Given the description of an element on the screen output the (x, y) to click on. 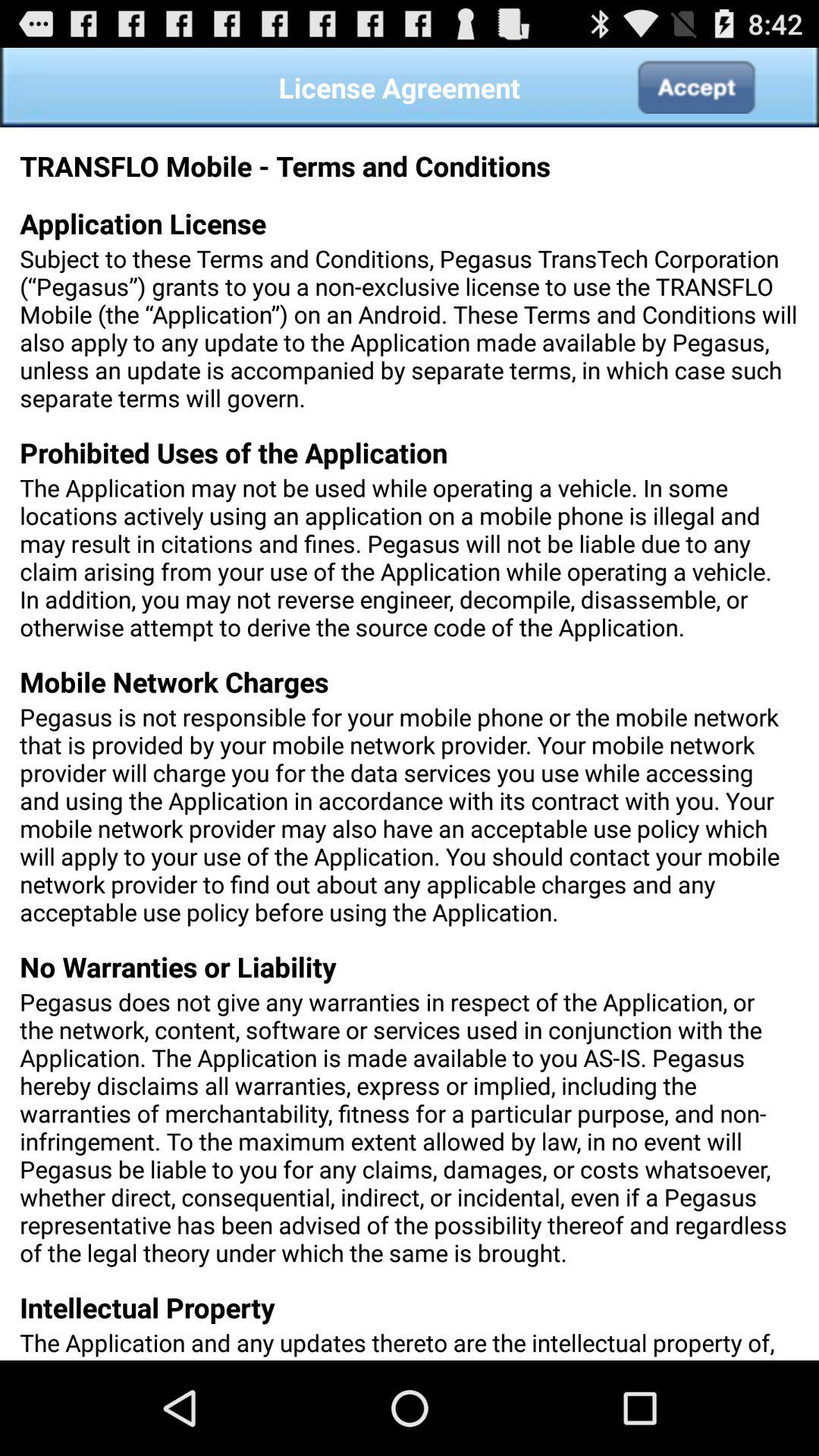
open item to the right of the license agreement item (695, 86)
